Given the description of an element on the screen output the (x, y) to click on. 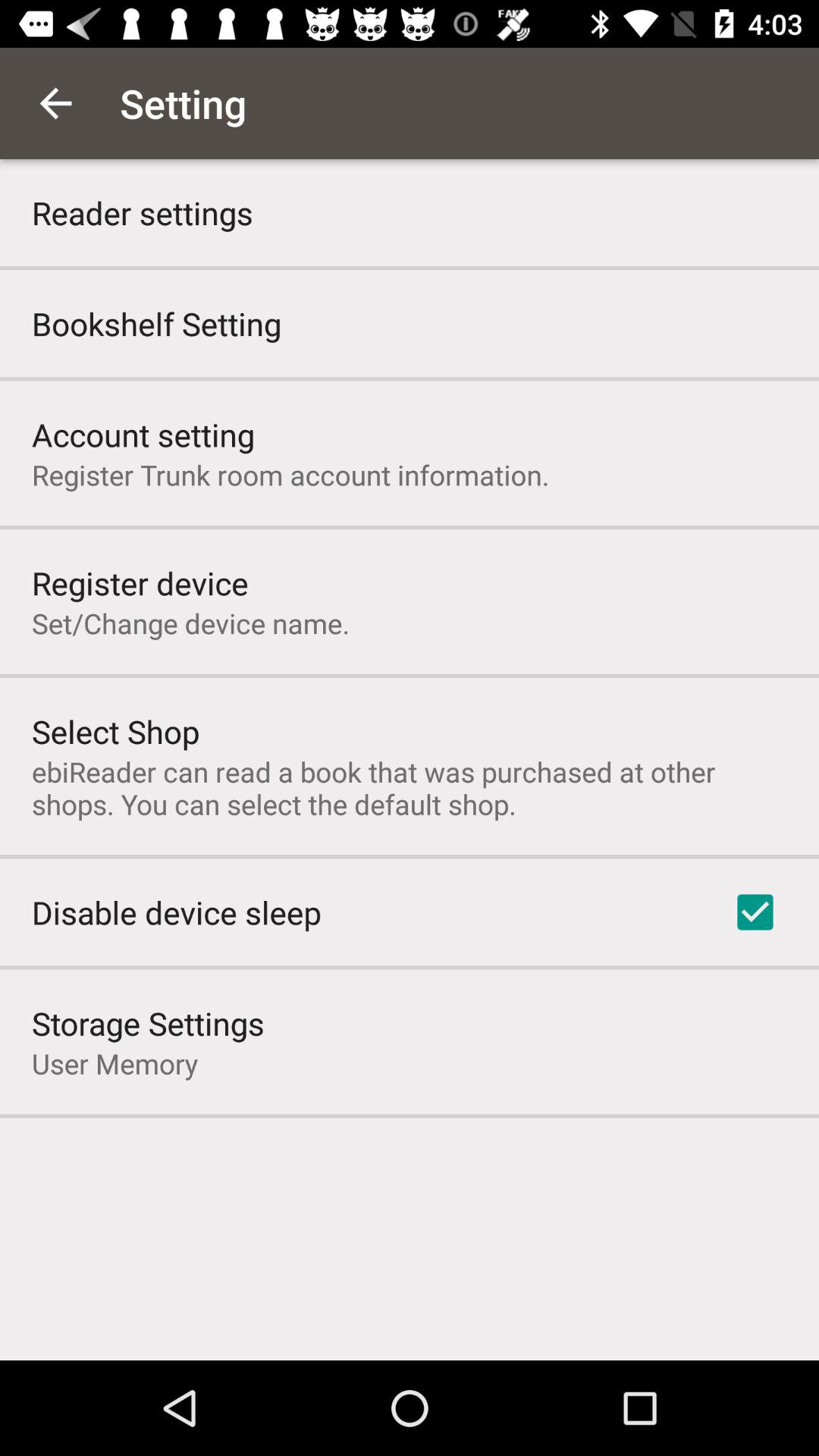
jump until the register trunk room (290, 474)
